Given the description of an element on the screen output the (x, y) to click on. 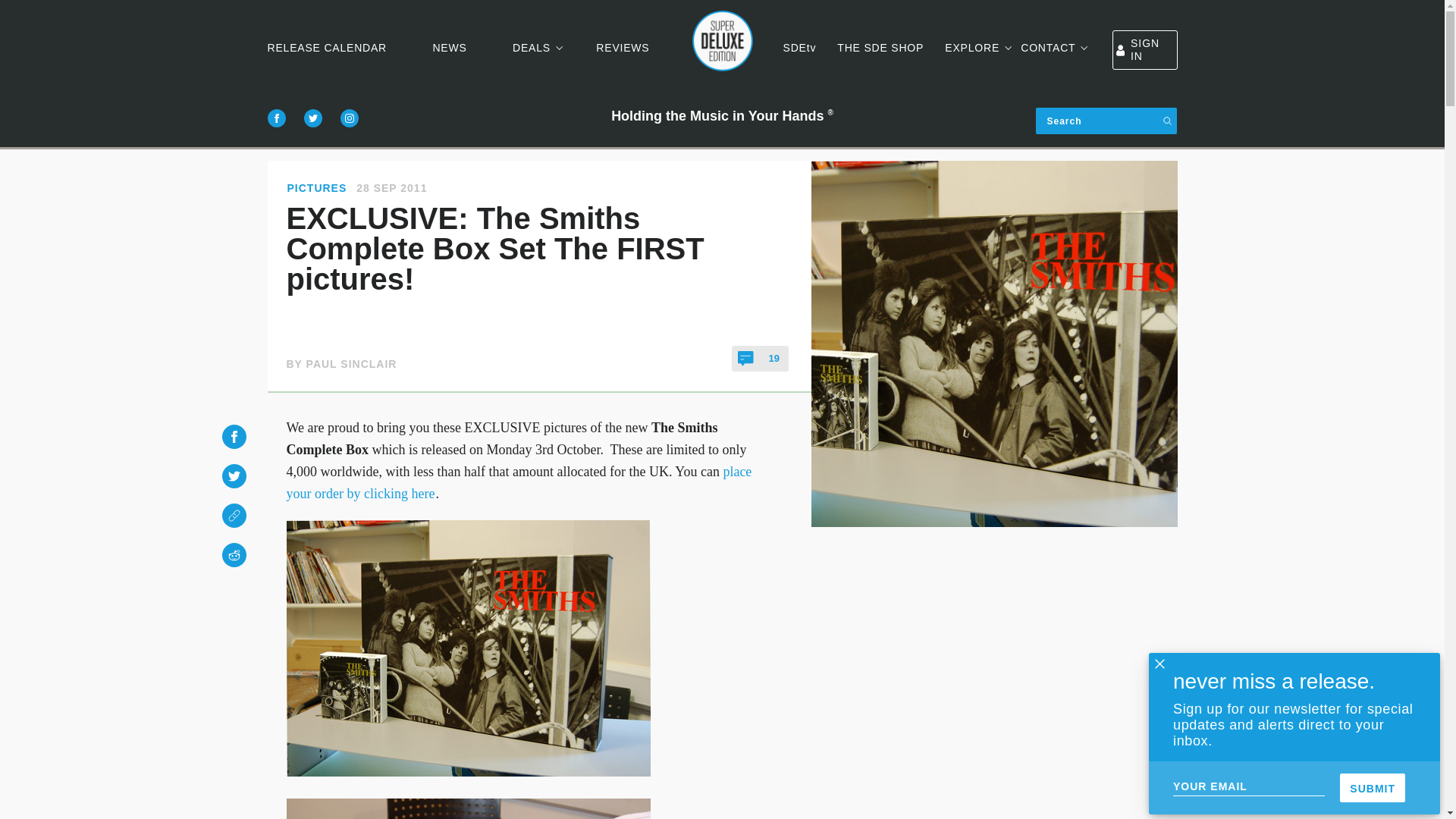
SIGN IN (1144, 49)
THE SDE SHOP (880, 46)
Submit (1372, 787)
The Smiths Complete Box Set Exclusive FIRST pictures (468, 648)
REVIEWS (622, 46)
SDEtv (799, 46)
NEWS (448, 46)
CONTACT (1047, 46)
EXPLORE (971, 46)
DEALS (531, 46)
The Smiths Complete Box Set Exclusive FIRST pictures (468, 808)
RELEASE CALENDAR (326, 46)
